Given the description of an element on the screen output the (x, y) to click on. 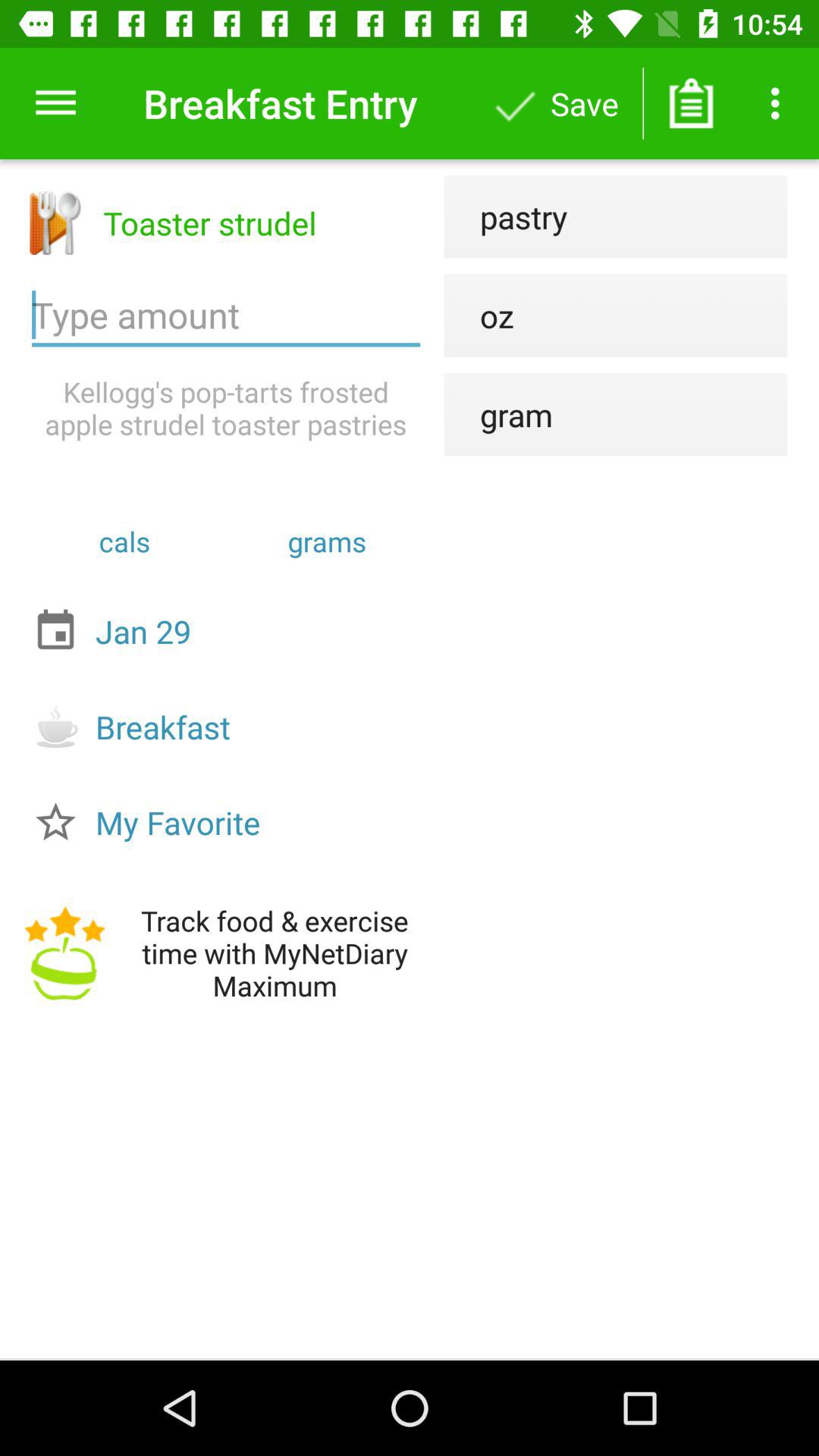
flip until my favorite (229, 822)
